Given the description of an element on the screen output the (x, y) to click on. 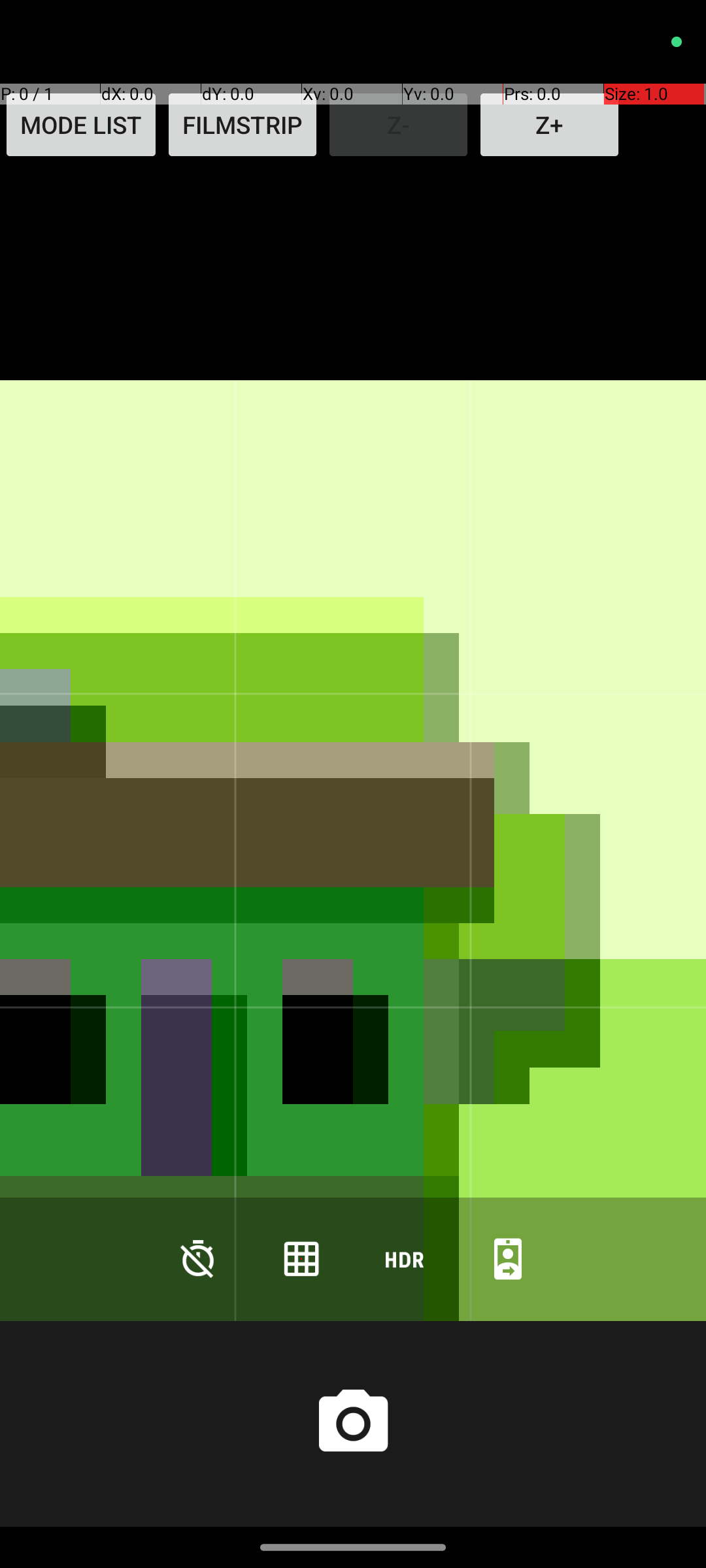
Countdown timer is off Element type: android.widget.ImageButton (197, 1258)
HDR on Element type: android.widget.ImageButton (404, 1258)
Front camera Element type: android.widget.ImageButton (507, 1258)
